Given the description of an element on the screen output the (x, y) to click on. 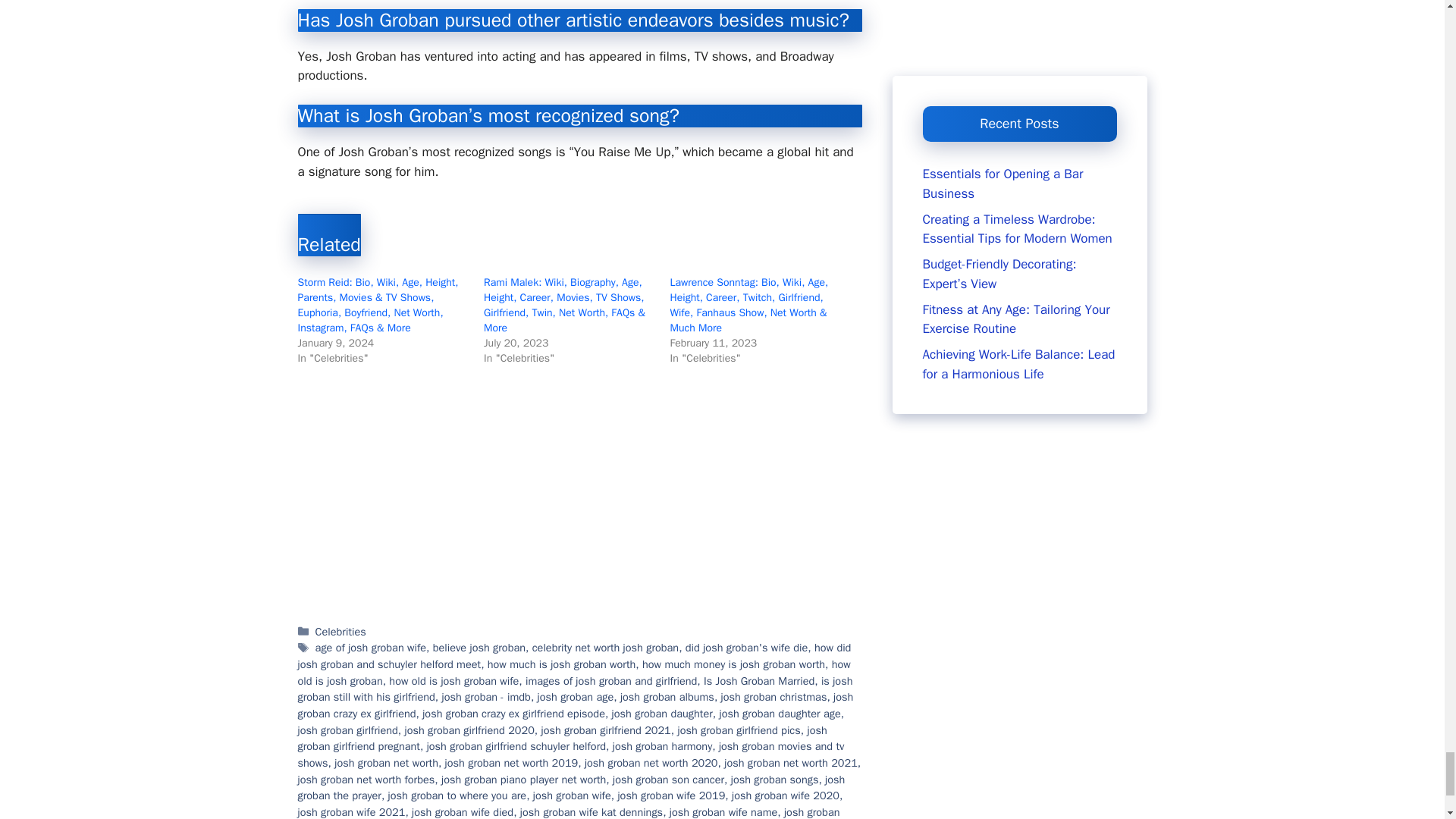
josh groban christmas (773, 696)
josh groban girlfriend pics (738, 730)
believe josh groban (478, 647)
josh groban daughter (662, 713)
josh groban crazy ex girlfriend (575, 705)
josh groban albums (667, 696)
josh groban girlfriend 2021 (604, 730)
josh groban girlfriend pregnant (562, 738)
Celebrities (340, 631)
did josh groban's wife die (746, 647)
josh groban daughter age (779, 713)
josh groban age (575, 696)
how old is josh groban (573, 672)
how much money is josh groban worth (733, 663)
images of josh groban and girlfriend (611, 680)
